Given the description of an element on the screen output the (x, y) to click on. 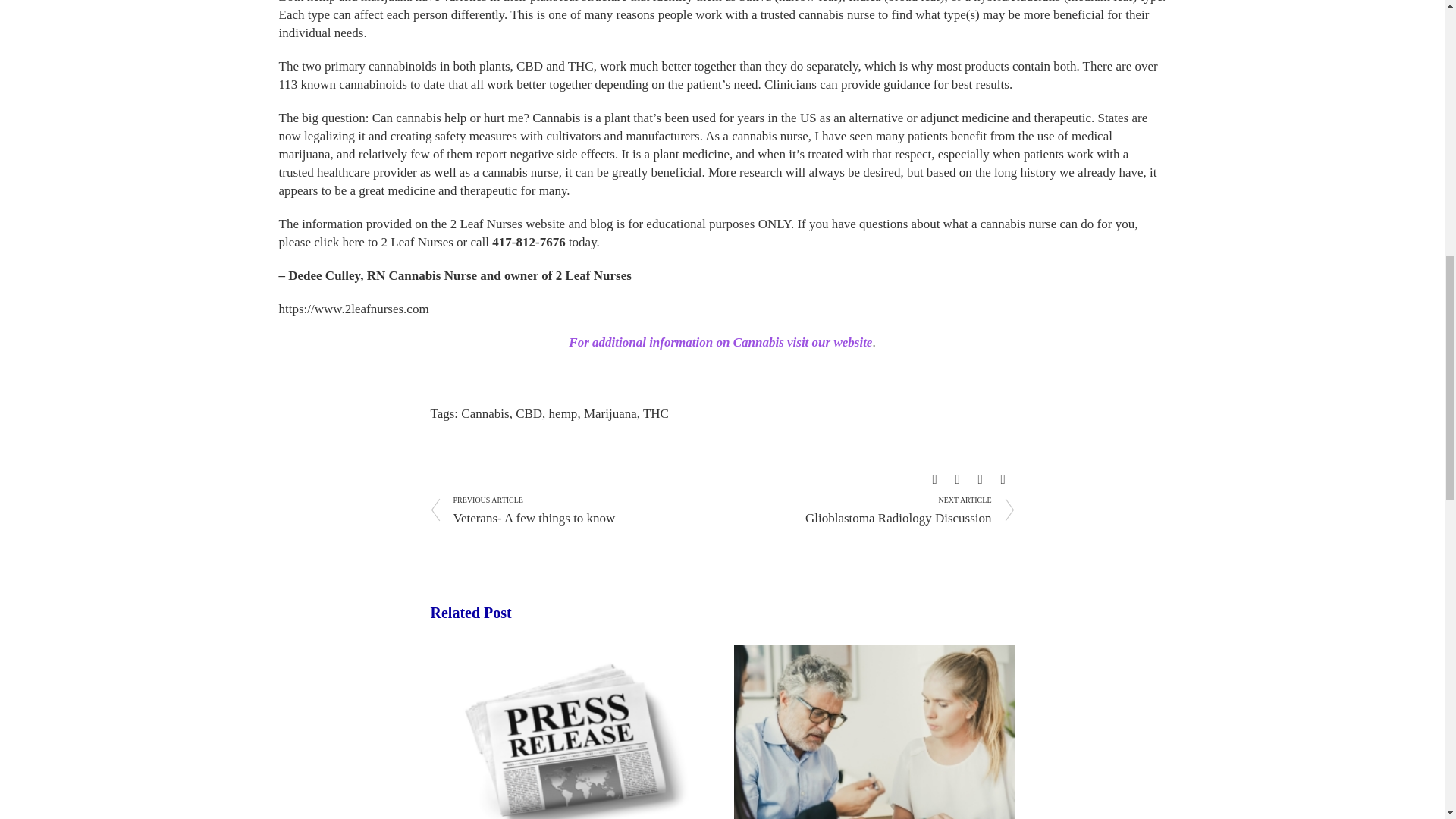
Share this post on Twitter (957, 479)
Share this post on Pinterest (1002, 479)
Share this post on Google Plus (980, 479)
Share this post on Facebook (934, 479)
